Given the description of an element on the screen output the (x, y) to click on. 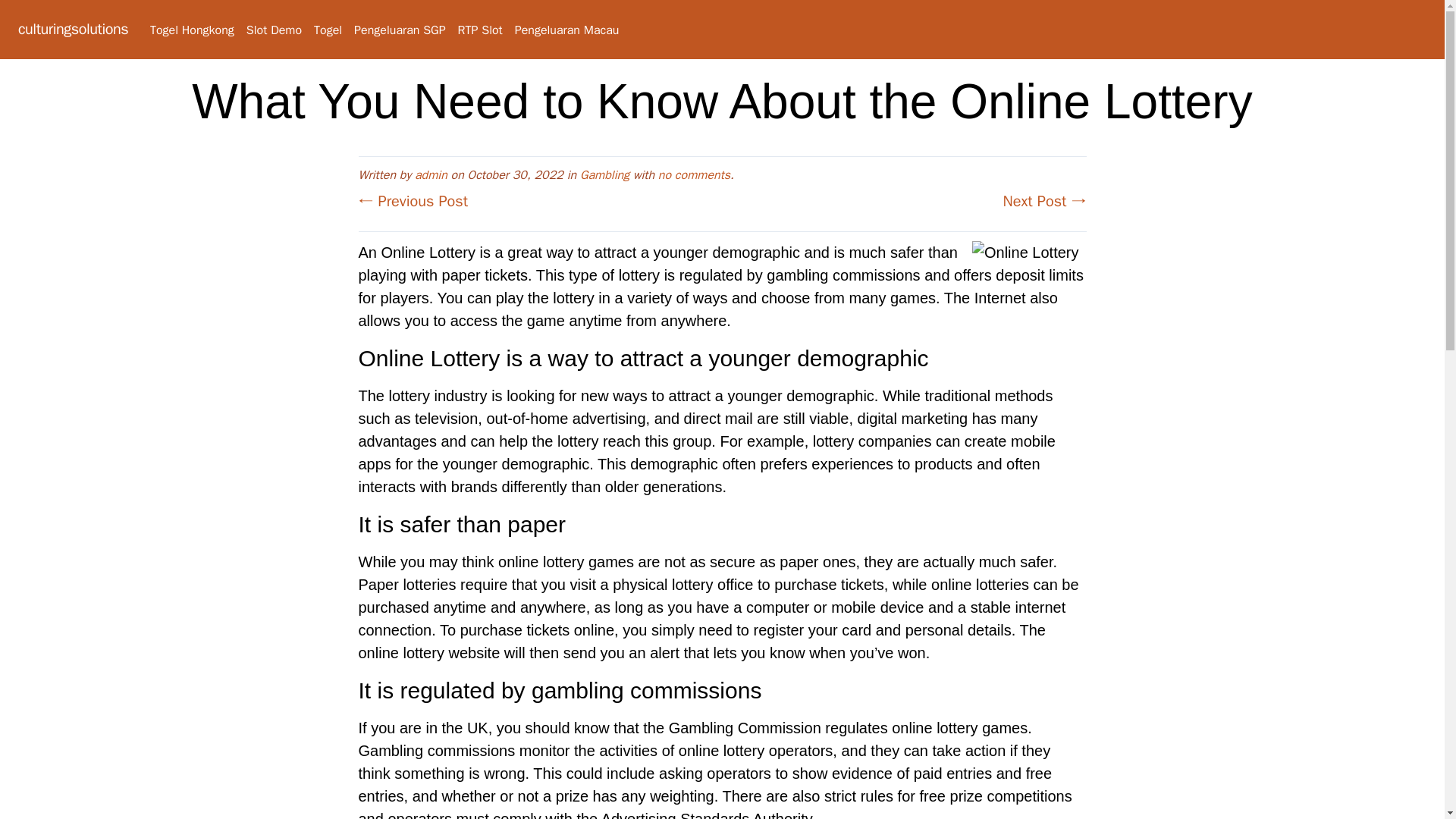
culturingsolutions (72, 29)
RTP Slot (480, 30)
Pengeluaran Macau (567, 30)
Slot Demo (273, 30)
Togel Hongkong (191, 30)
Pengeluaran SGP (399, 30)
no comments (694, 174)
Gambling (603, 174)
no comments (694, 174)
admin (430, 174)
Togel (328, 30)
